Given the description of an element on the screen output the (x, y) to click on. 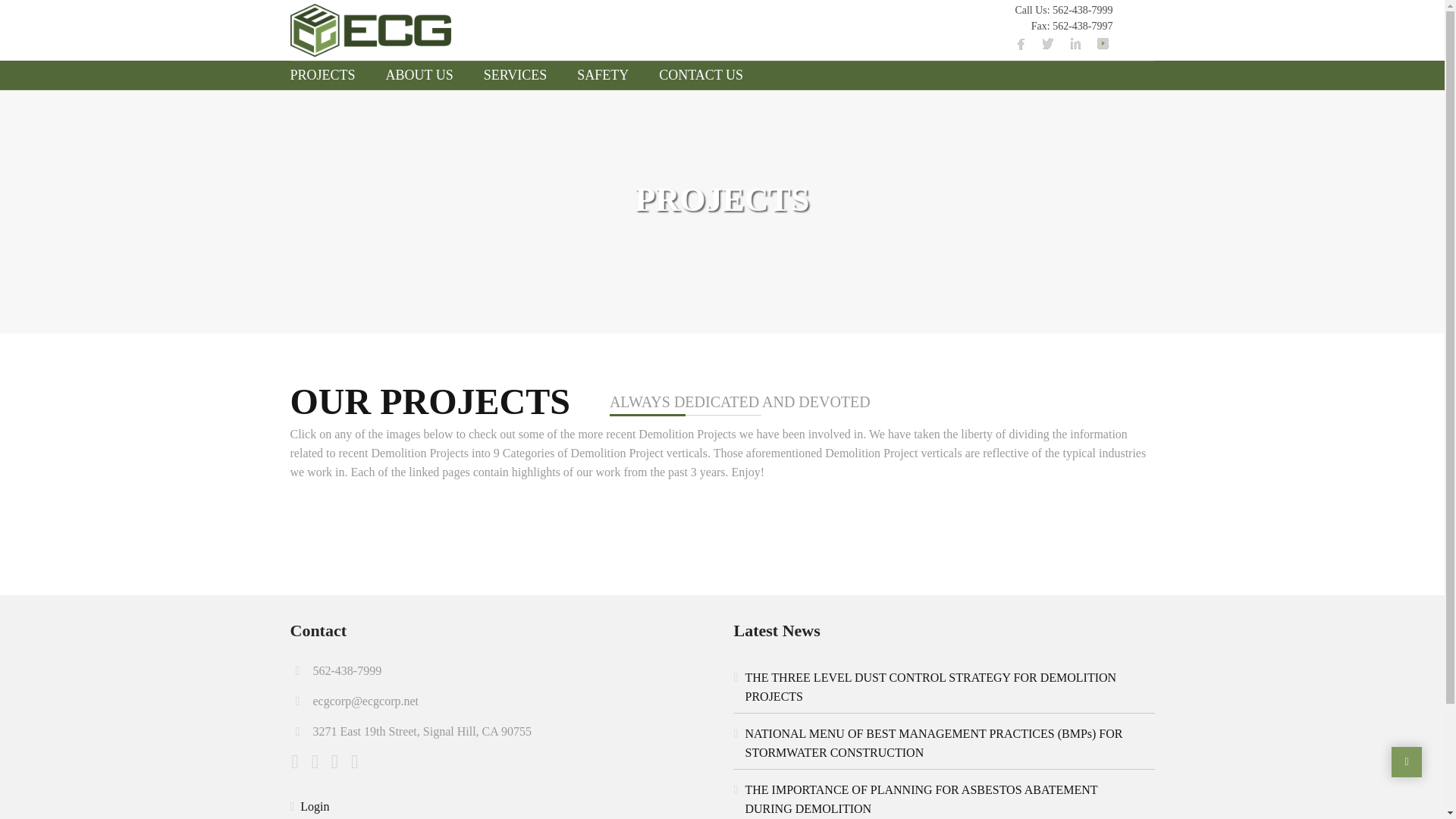
SERVICES (515, 74)
ABOUT US (419, 74)
SAFETY (602, 74)
CONTACT US (700, 74)
PROJECTS (329, 74)
